Given the description of an element on the screen output the (x, y) to click on. 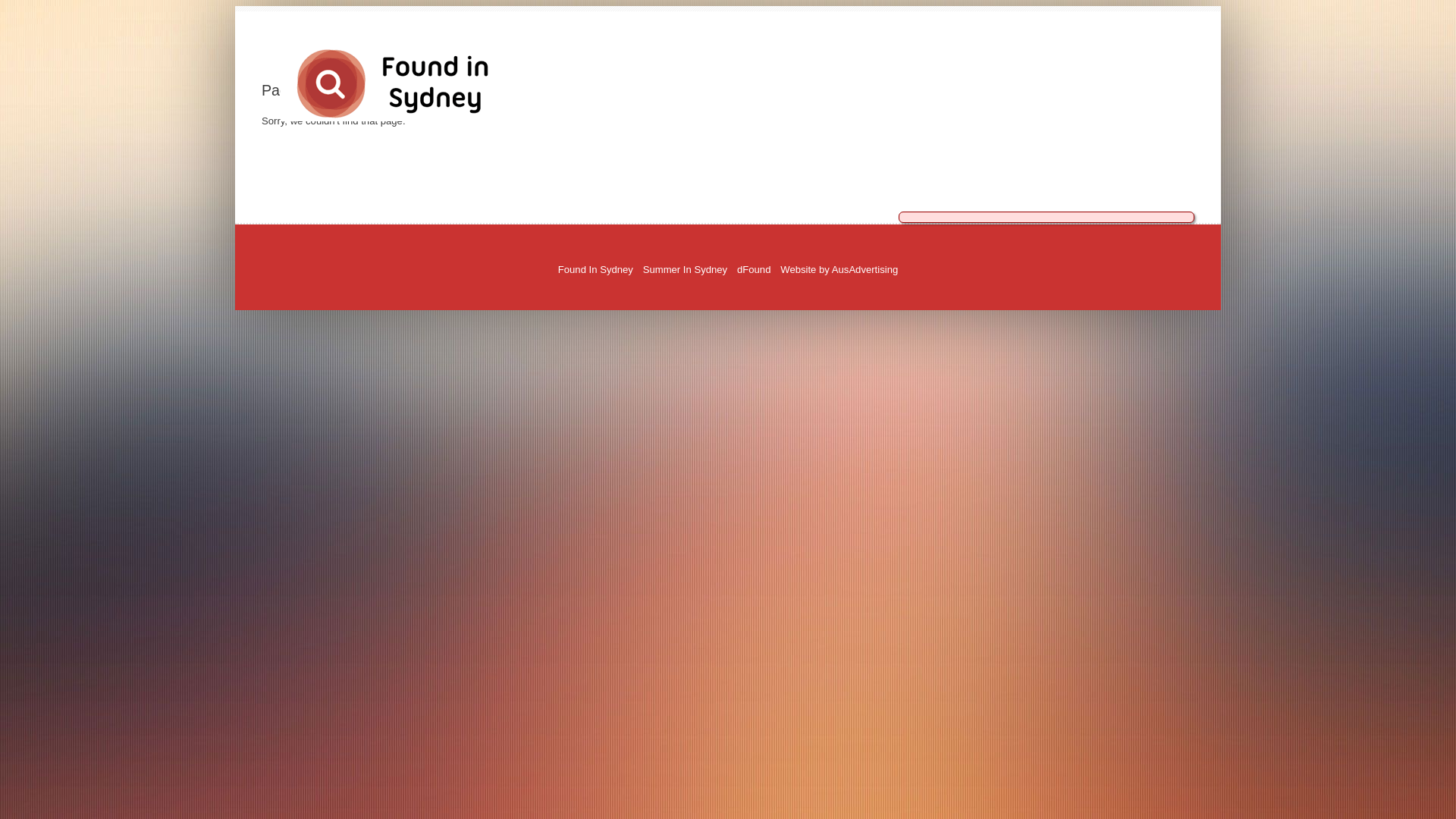
Found In Sydney Element type: text (595, 269)
Website by AusAdvertising Element type: text (838, 269)
dFound Element type: text (753, 269)
